Given the description of an element on the screen output the (x, y) to click on. 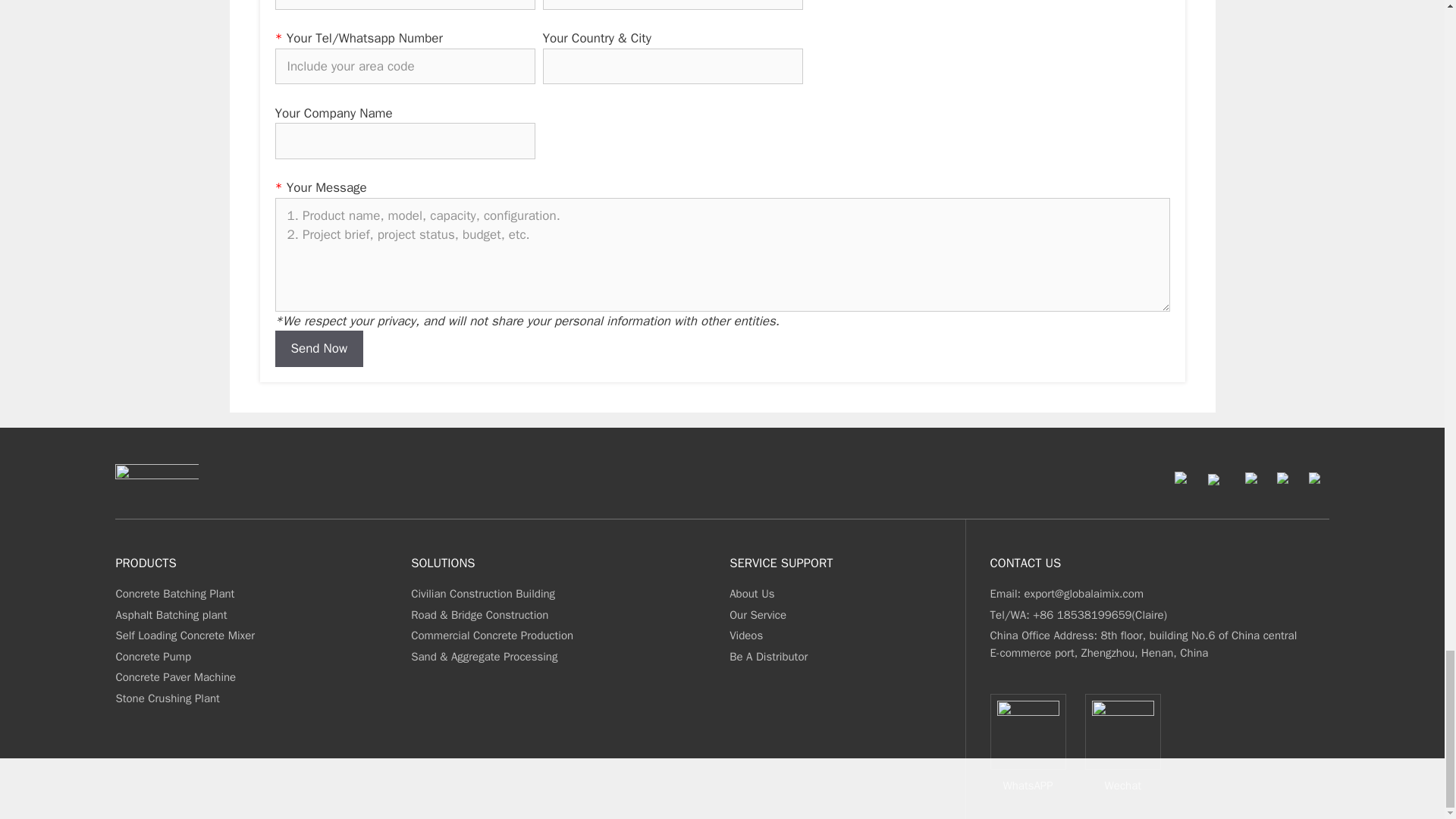
Send Now (318, 348)
